Given the description of an element on the screen output the (x, y) to click on. 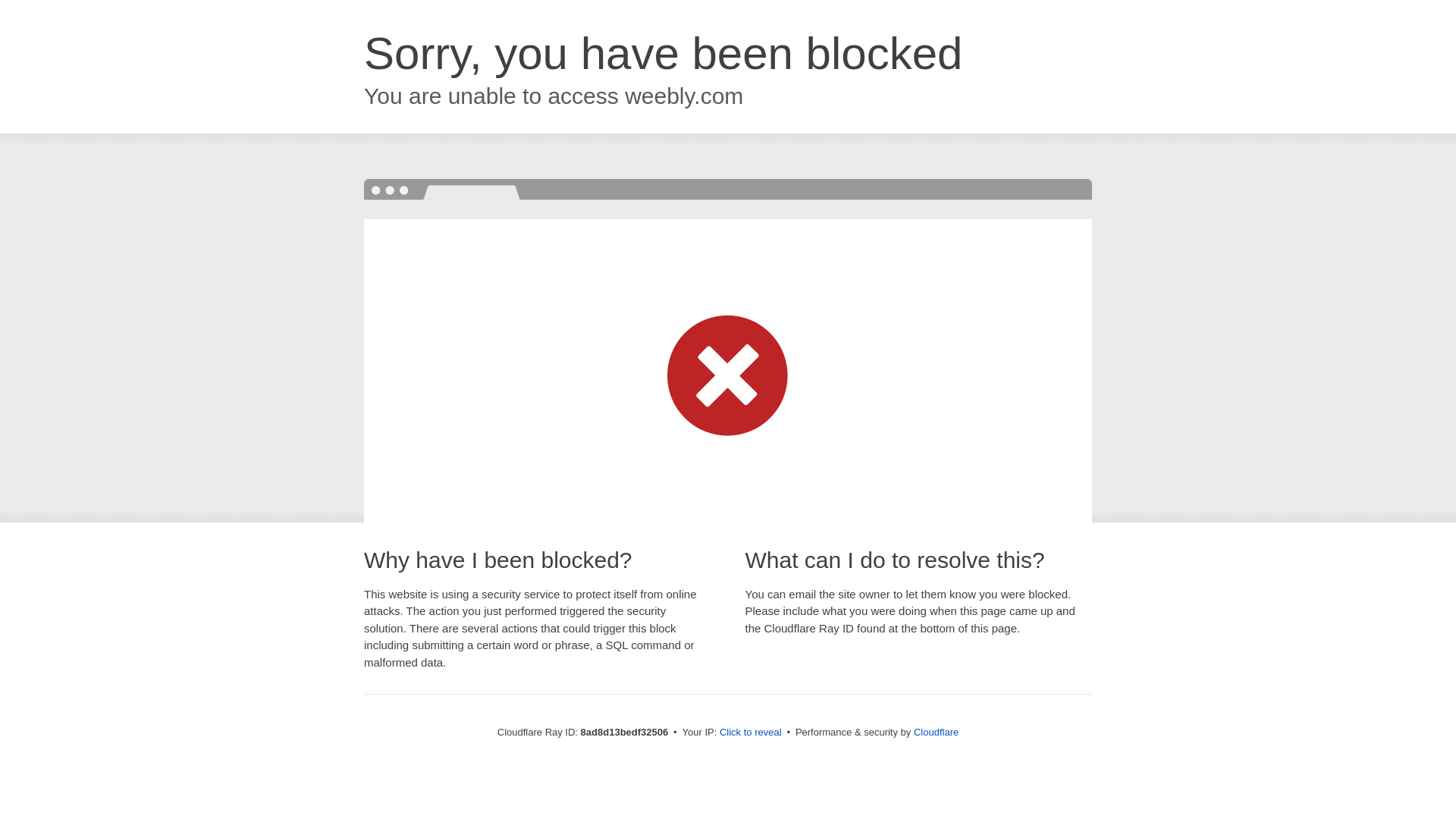
Cloudflare (936, 731)
Click to reveal (750, 732)
